Given the description of an element on the screen output the (x, y) to click on. 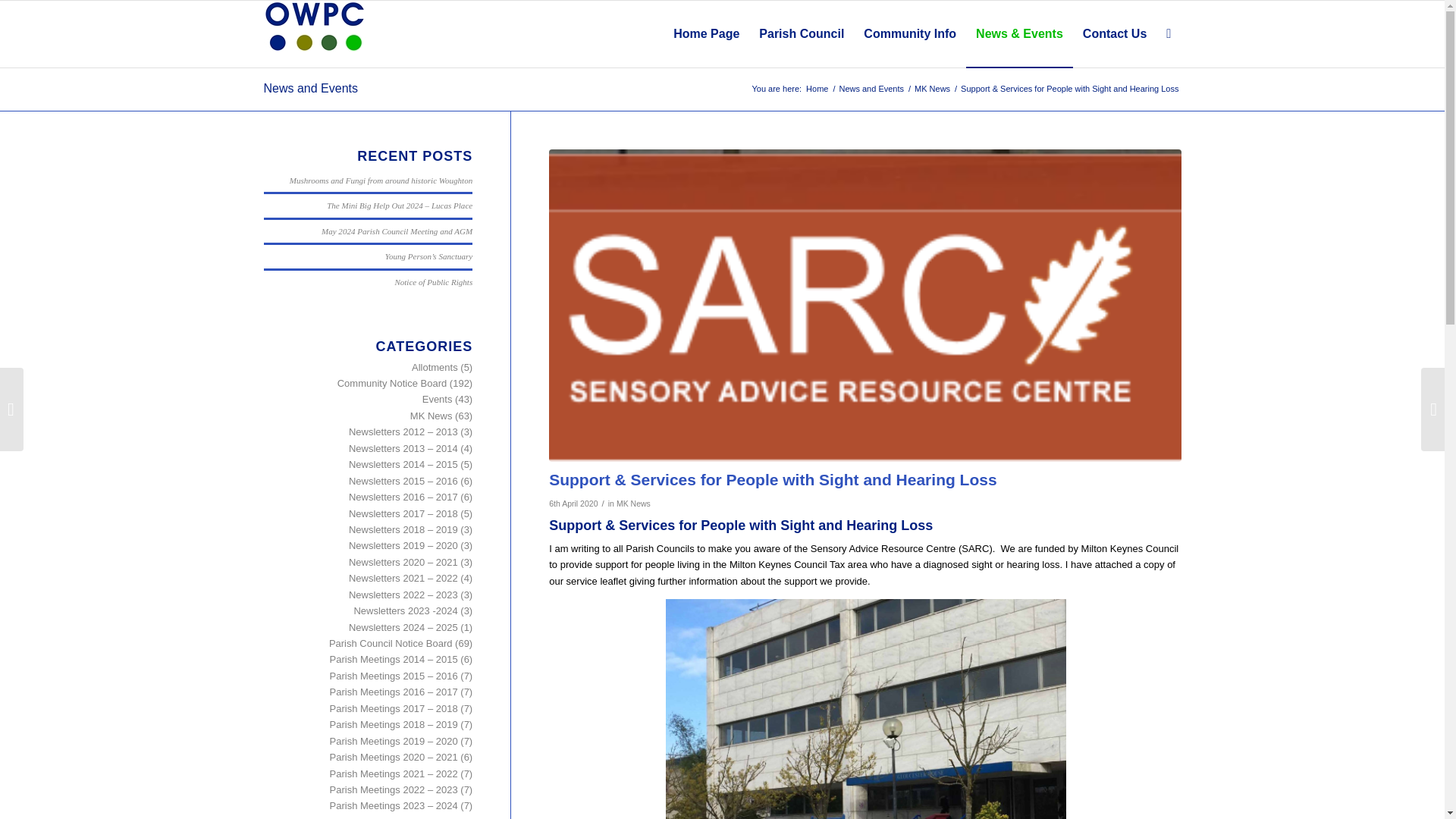
News and Events (310, 88)
Mushrooms and Fungi from around historic Woughton (380, 180)
News and Events (870, 89)
Contact Us (1114, 33)
Community Info (909, 33)
Home (816, 89)
Permanent Link: News and Events (310, 88)
SARC Services Leaflet (864, 708)
Parish Council (801, 33)
Old Woughton Parish Council (816, 89)
Home Page (706, 33)
News and Events (870, 89)
MK News (632, 502)
May 2024 Parish Council Meeting and AGM (396, 230)
MK News (932, 89)
